Given the description of an element on the screen output the (x, y) to click on. 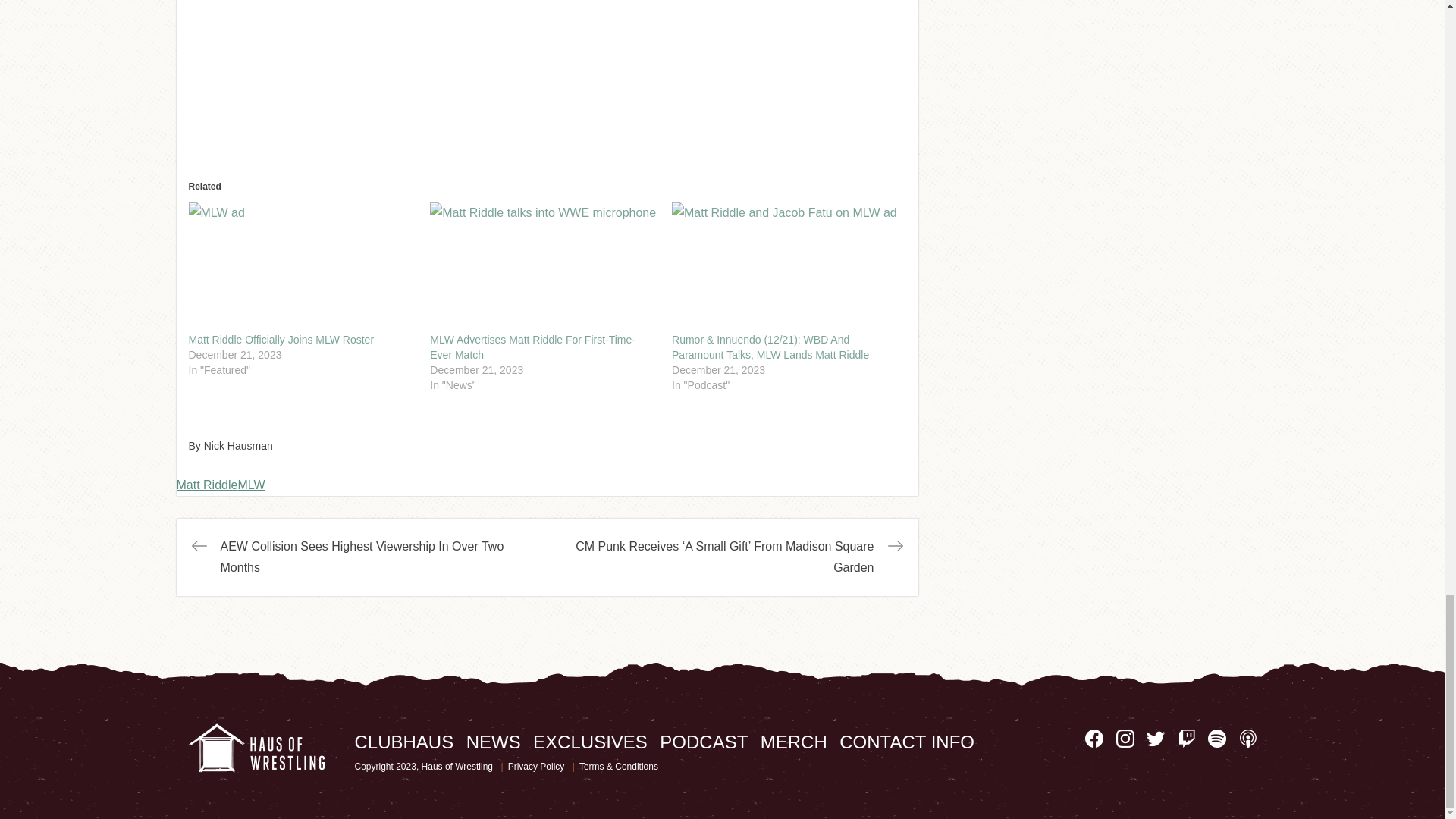
MLW Advertises Matt Riddle For First-Time-Ever Match (531, 347)
MLW Advertises Matt Riddle For First-Time-Ever Match (531, 347)
Matt Riddle Officially Joins MLW Roster (300, 267)
MLW Advertises Matt Riddle For First-Time-Ever Match (542, 267)
Nick Hausman (238, 445)
Matt Riddle drops an F-bomb on Raw: Aug. 29, 2022 (546, 73)
Matt Riddle (206, 484)
Matt Riddle Officially Joins MLW Roster (280, 339)
MLW (250, 484)
Matt Riddle Officially Joins MLW Roster (280, 339)
